Given the description of an element on the screen output the (x, y) to click on. 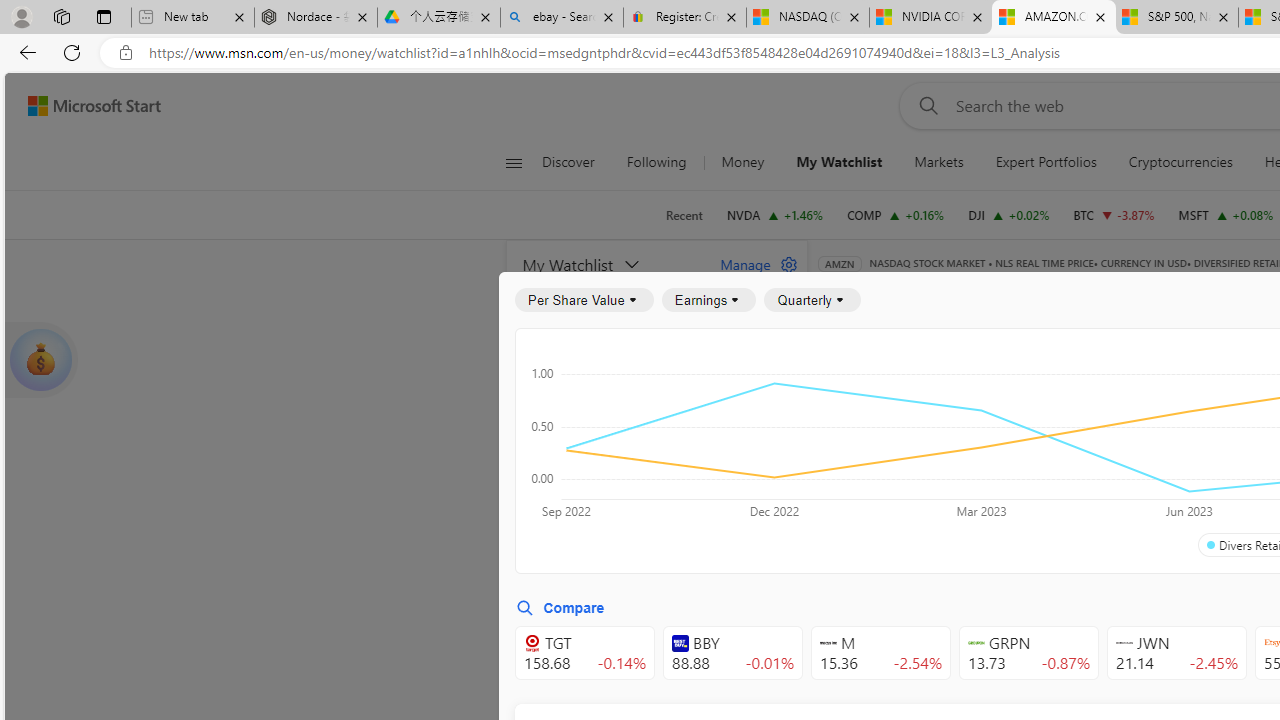
New tab - Sleeping (192, 17)
Earnings (708, 300)
remove from your watchlist (786, 498)
add to your watchlist (786, 680)
My Watchlist (610, 264)
Cash Flow (1166, 391)
BTC Bitcoin decrease 60,049.35 -2,320.91 -3.87% (1114, 214)
Web search (924, 105)
All (842, 445)
Income Statement (968, 391)
